Given the description of an element on the screen output the (x, y) to click on. 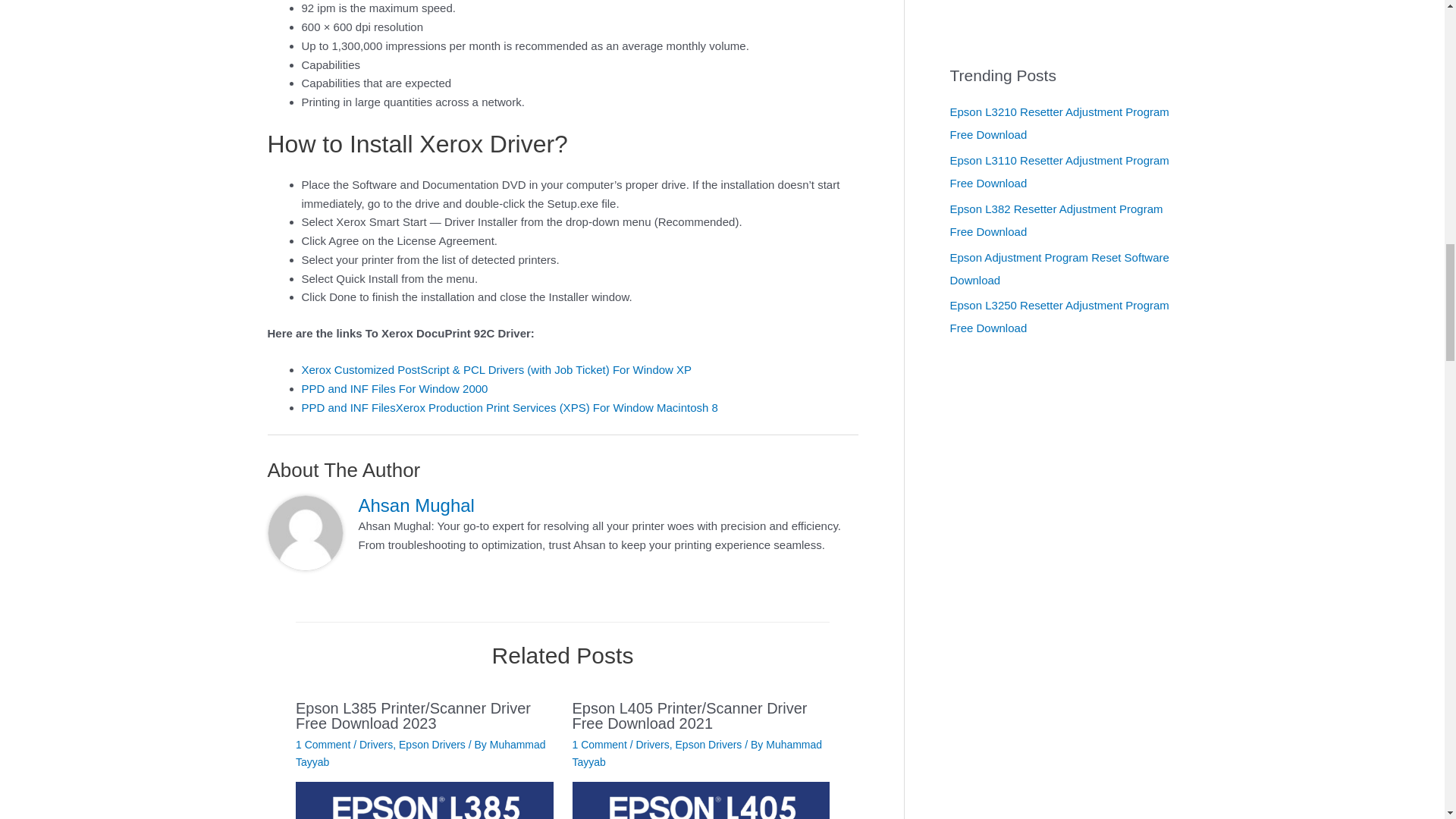
View all posts by Muhammad Tayyab (420, 752)
View all posts by Muhammad Tayyab (697, 752)
